Given the description of an element on the screen output the (x, y) to click on. 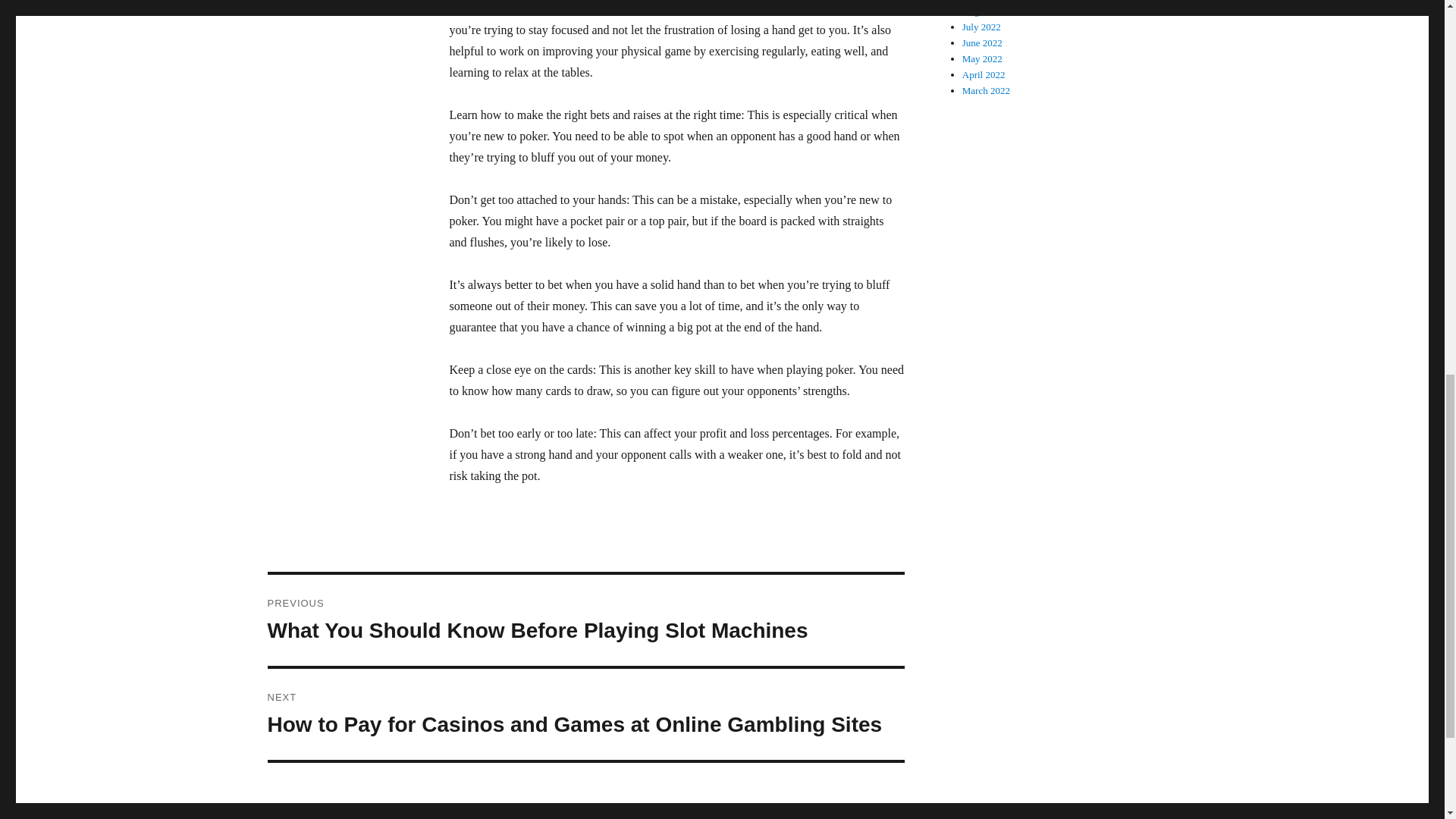
September 2022 (994, 0)
July 2022 (981, 26)
August 2022 (987, 10)
